Given the description of an element on the screen output the (x, y) to click on. 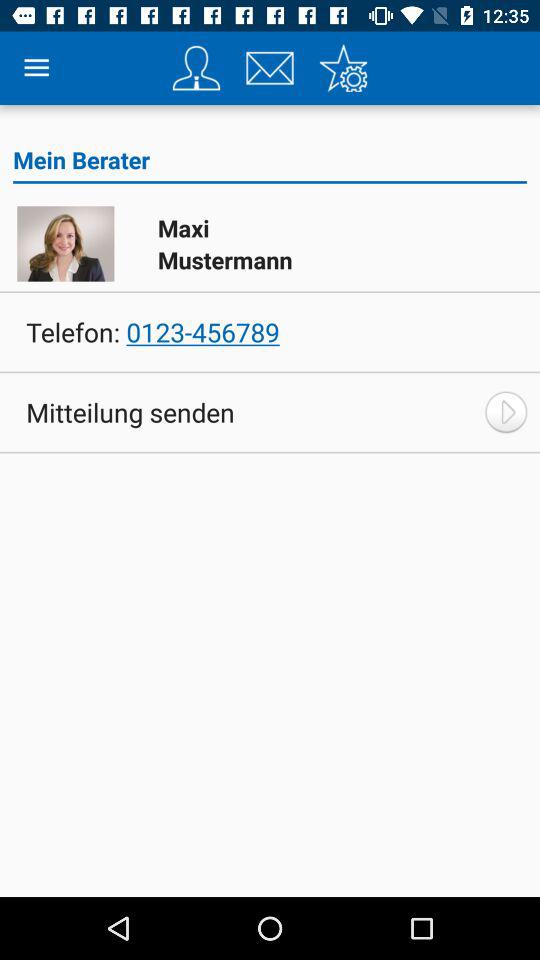
press item above mein berater icon (36, 68)
